Given the description of an element on the screen output the (x, y) to click on. 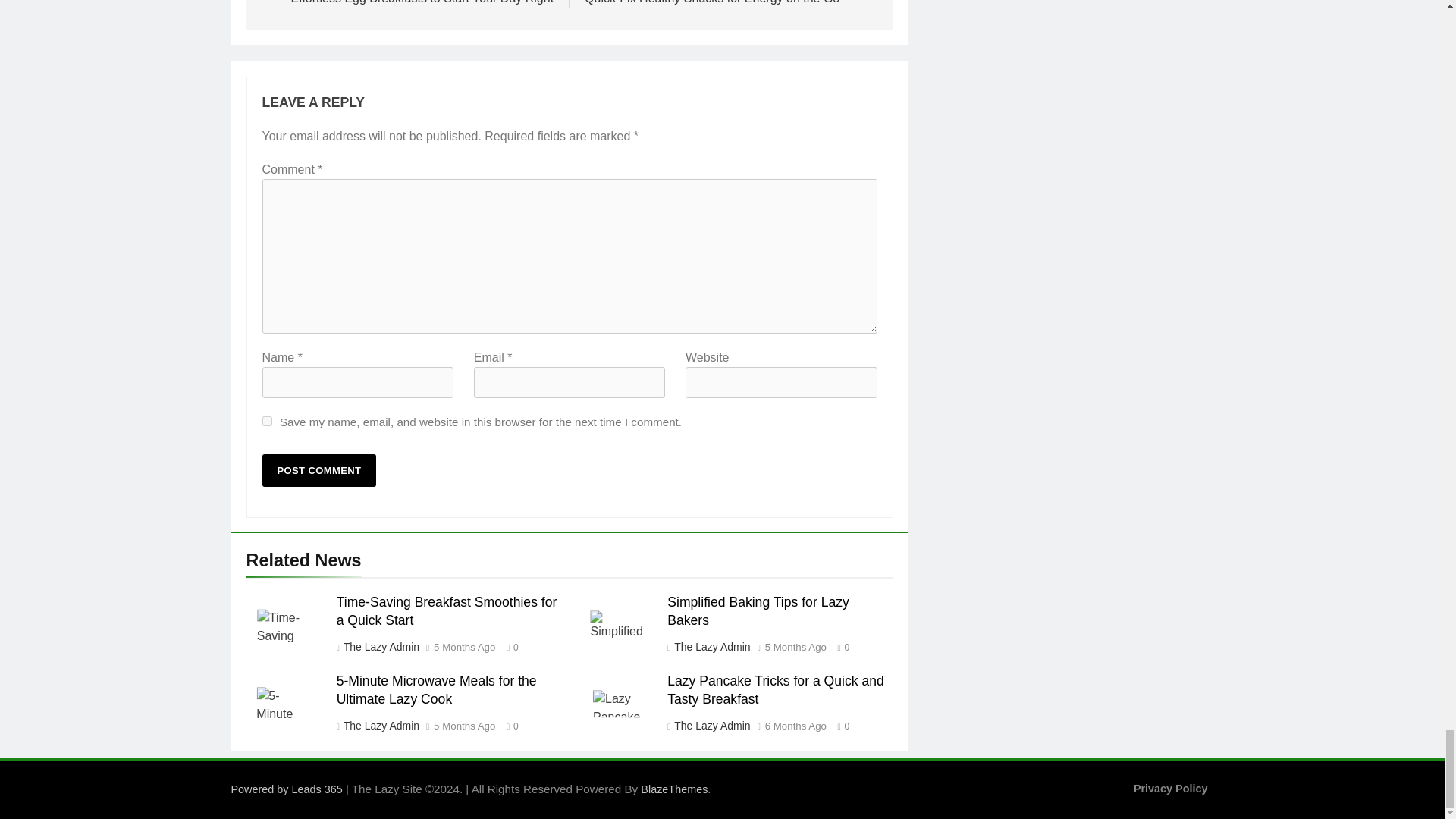
Post Comment (319, 470)
Post Comment (319, 470)
Simplified Baking Tips for Lazy Bakers (757, 611)
5 Months Ago (464, 647)
Time-Saving Breakfast Smoothies for a Quick Start (446, 611)
0 (508, 645)
The Lazy Admin (406, 2)
yes (731, 2)
